Given the description of an element on the screen output the (x, y) to click on. 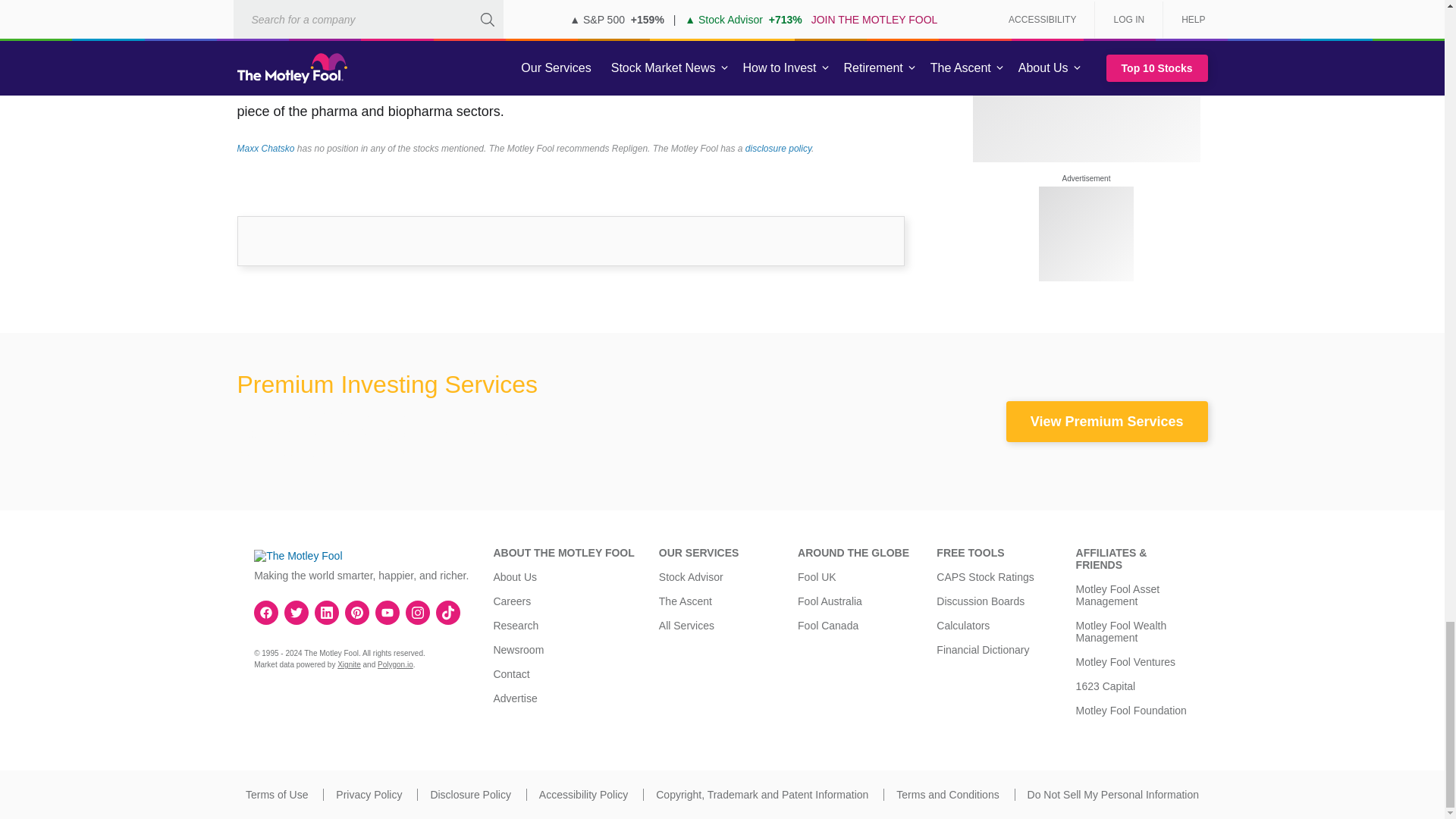
Copyright, Trademark and Patent Information (761, 794)
Do Not Sell My Personal Information. (1112, 794)
Accessibility Policy (582, 794)
Privacy Policy (368, 794)
Twitter (295, 612)
Instagram (417, 612)
LinkedIn (326, 612)
Terms and Conditions (947, 794)
Pinterest (356, 612)
Terms of Use (276, 794)
YouTube (387, 612)
TikTok (448, 612)
Disclosure Policy (470, 794)
Facebook (266, 612)
